Given the description of an element on the screen output the (x, y) to click on. 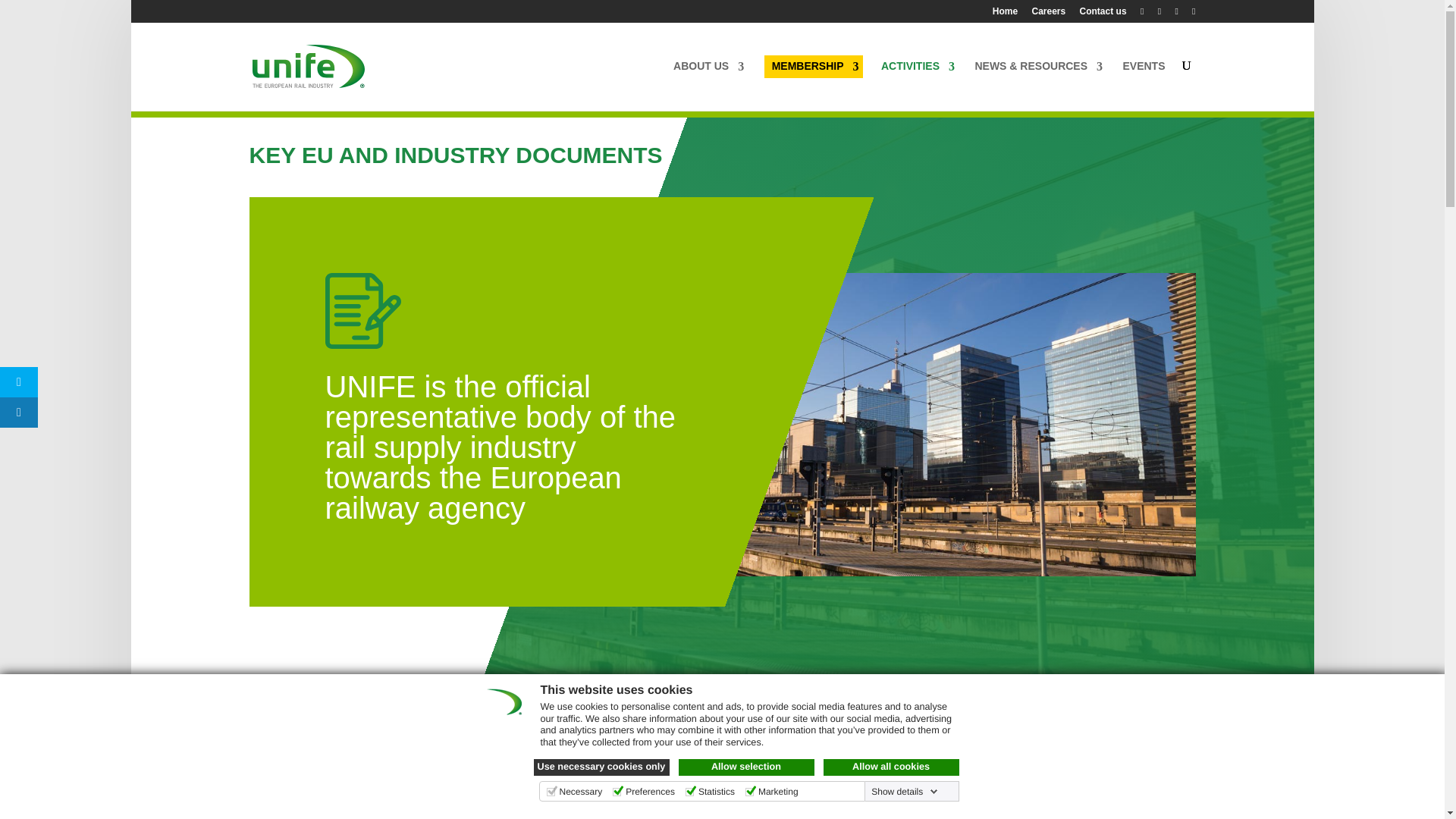
Allow selection (745, 767)
Show details (903, 791)
Use necessary cookies only (601, 767)
Allow all cookies (891, 767)
